Given the description of an element on the screen output the (x, y) to click on. 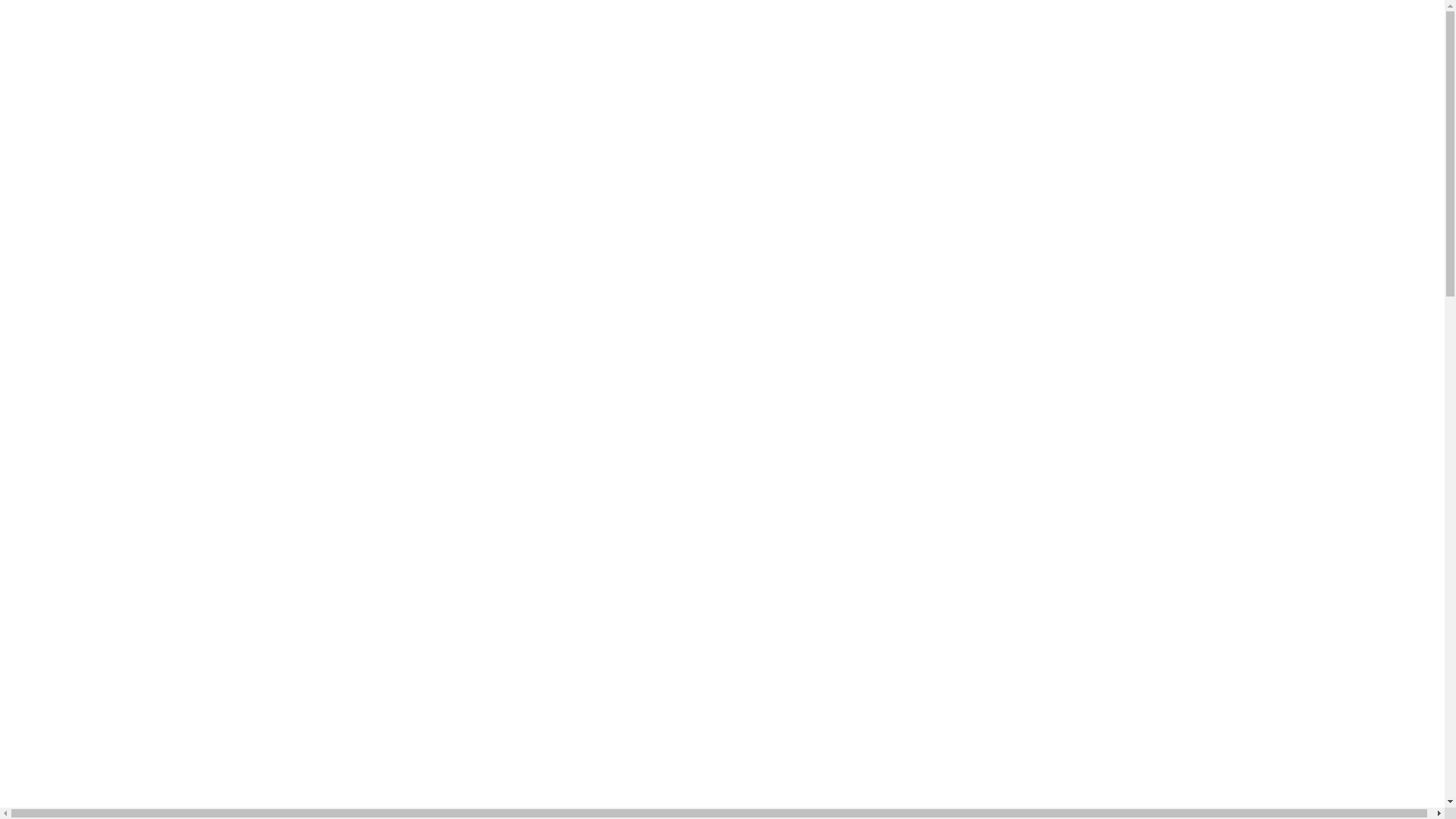
EVENT Element type: text (54, 413)
to Bottom Element type: hover (54, 505)
0 Element type: text (9, 250)
Korea Element type: text (20, 25)
BOOKMARK Element type: text (41, 39)
LOGIN Element type: text (55, 65)
BRANDS Element type: text (58, 399)
NEW Element type: text (49, 372)
aside menu Element type: text (35, 207)
to Top Element type: hover (21, 505)
CSCENTER Element type: text (67, 133)
CART Element type: text (52, 92)
JOIN Element type: text (49, 78)
ALL Element type: text (47, 276)
BEST Element type: text (49, 385)
STORY Element type: text (54, 426)
ORDER Element type: text (56, 106)
MYPAGE Element type: text (61, 119)
